Given the description of an element on the screen output the (x, y) to click on. 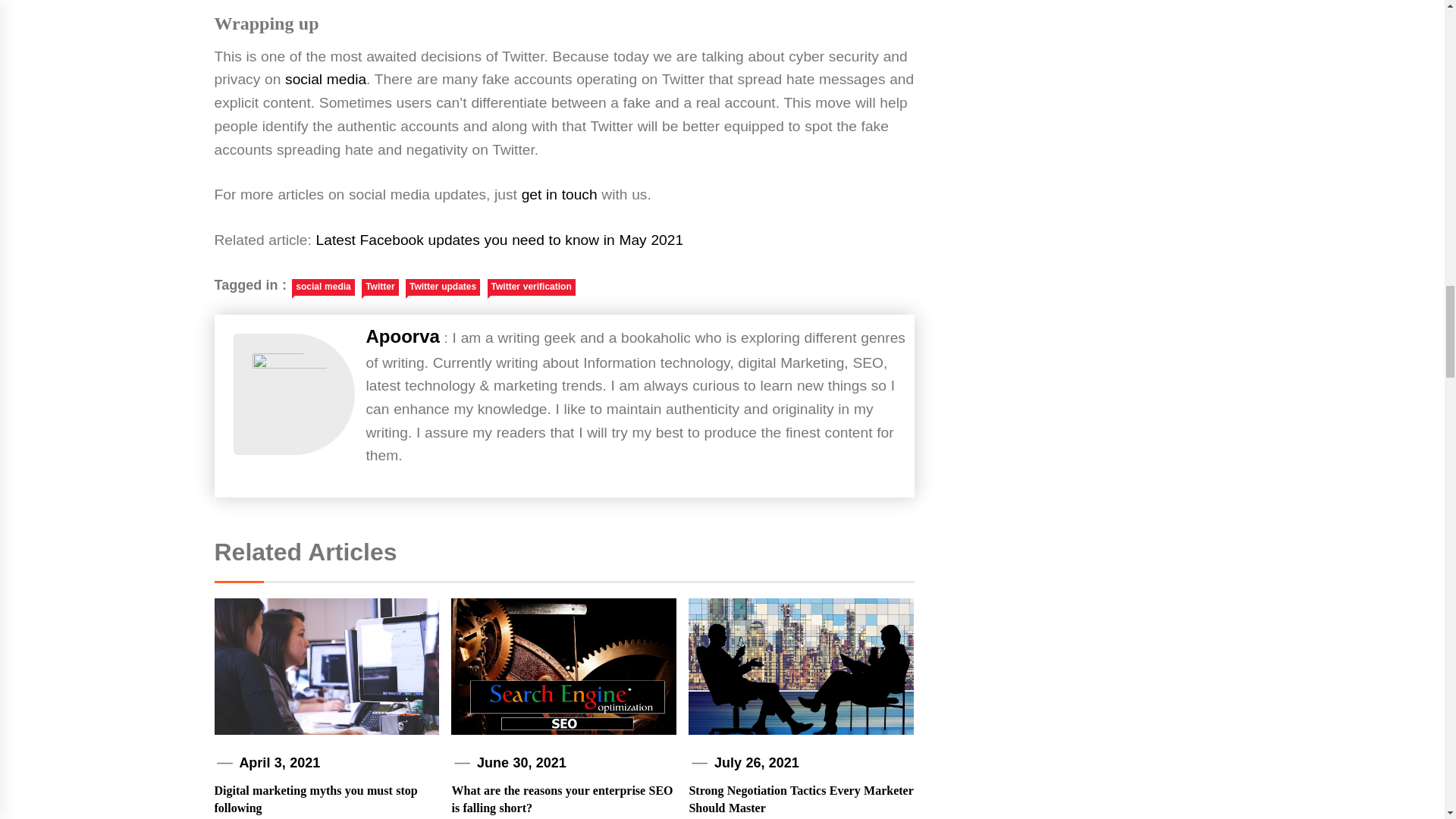
Digital marketing myths you must stop following (315, 798)
social media (325, 78)
Apoorva (402, 337)
Strong Negotiation Tactics Every Marketer Should Master (800, 798)
Twitter (379, 287)
Latest Facebook updates you need to know in May 2021 (499, 239)
Twitter updates (443, 287)
July 26, 2021 (756, 762)
social media (322, 287)
get in touch (558, 194)
What are the reasons your enterprise SEO is falling short? (561, 798)
June 30, 2021 (521, 762)
April 3, 2021 (279, 762)
Twitter verification (531, 287)
